Given the description of an element on the screen output the (x, y) to click on. 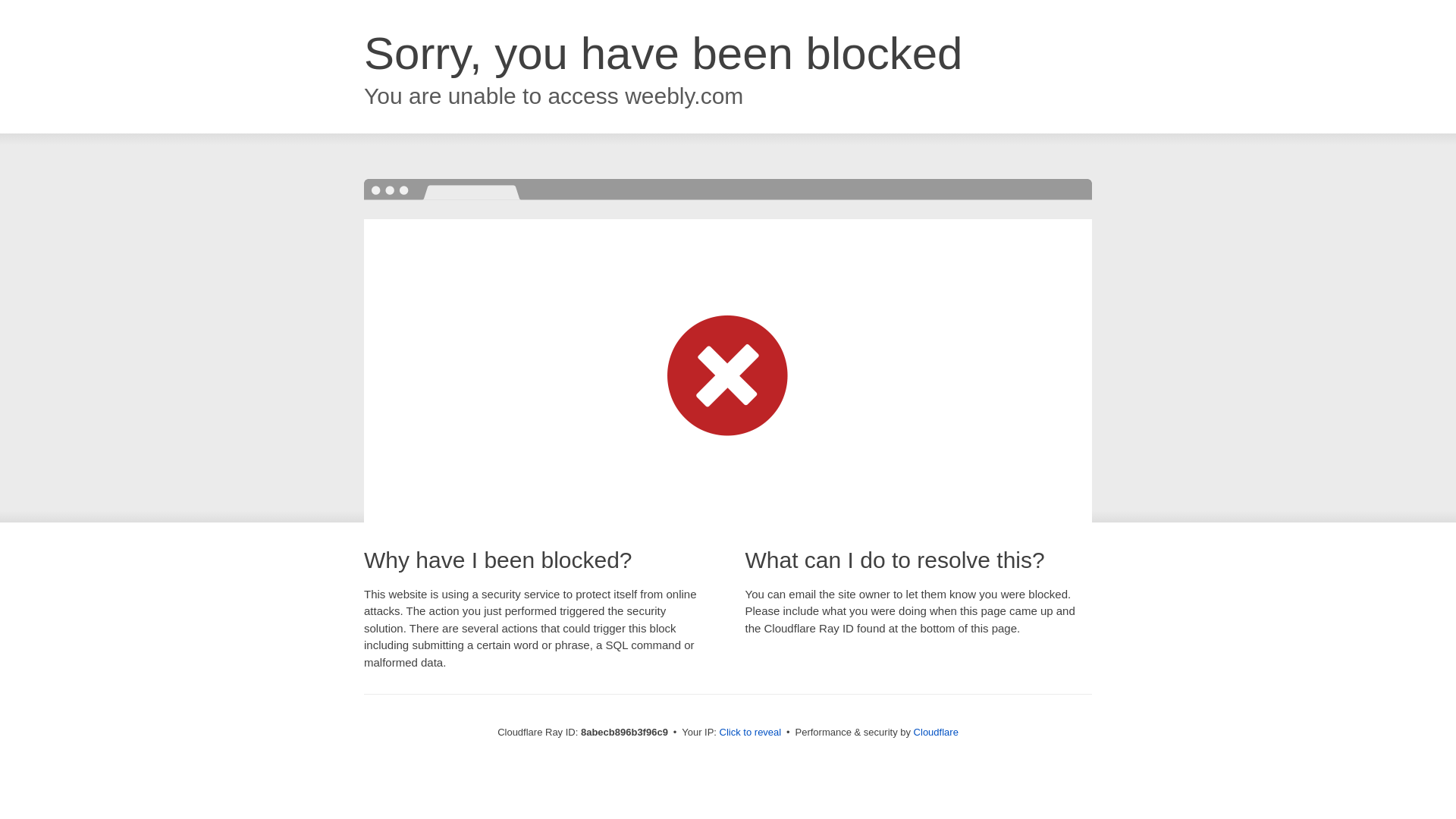
Click to reveal (750, 732)
Cloudflare (936, 731)
